Given the description of an element on the screen output the (x, y) to click on. 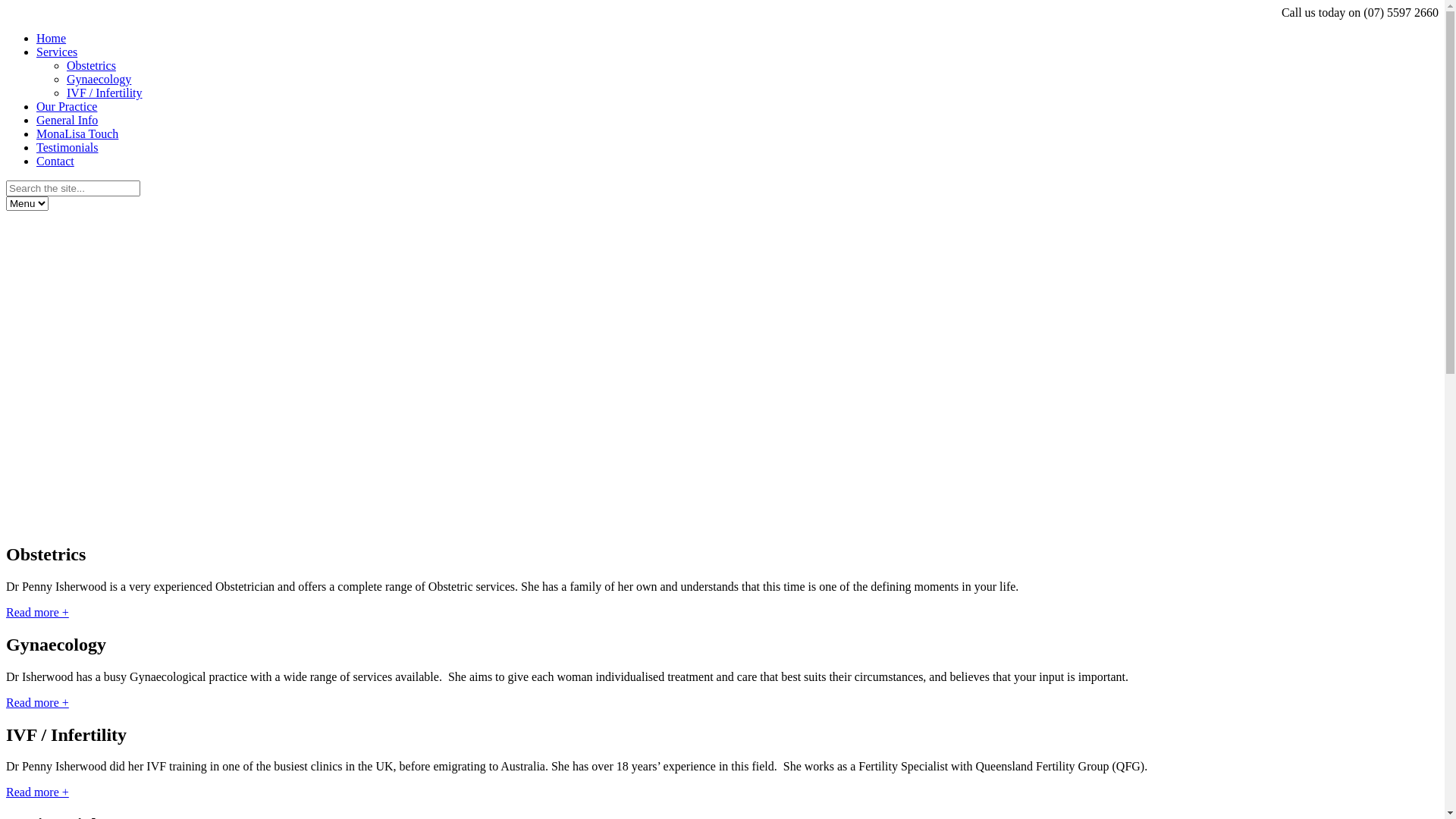
MonaLisa Touch Element type: text (77, 133)
Read more + Element type: text (37, 611)
Testimonials Element type: text (67, 147)
General Info Element type: text (66, 119)
IVF / Infertility Element type: text (104, 92)
Gynaecology Element type: text (98, 78)
Services Element type: text (56, 51)
Home Element type: text (50, 37)
Read more + Element type: text (37, 791)
Contact Element type: text (55, 160)
Read more + Element type: text (37, 702)
Our Practice Element type: text (66, 106)
Obstetrics Element type: text (91, 65)
